Given the description of an element on the screen output the (x, y) to click on. 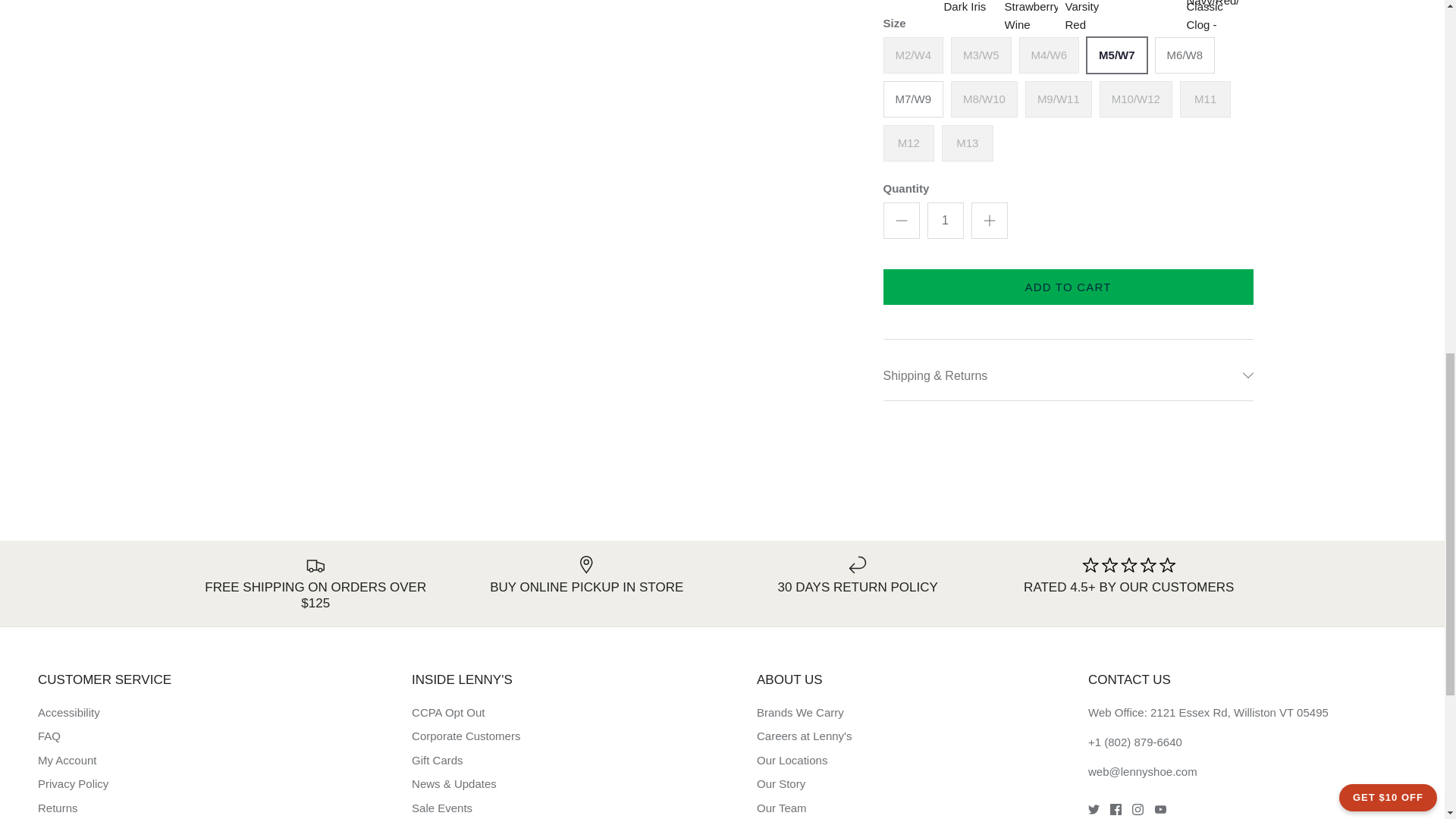
Facebook (1115, 808)
Minus (900, 220)
Plus (988, 220)
1 (944, 220)
Twitter (1093, 808)
